Given the description of an element on the screen output the (x, y) to click on. 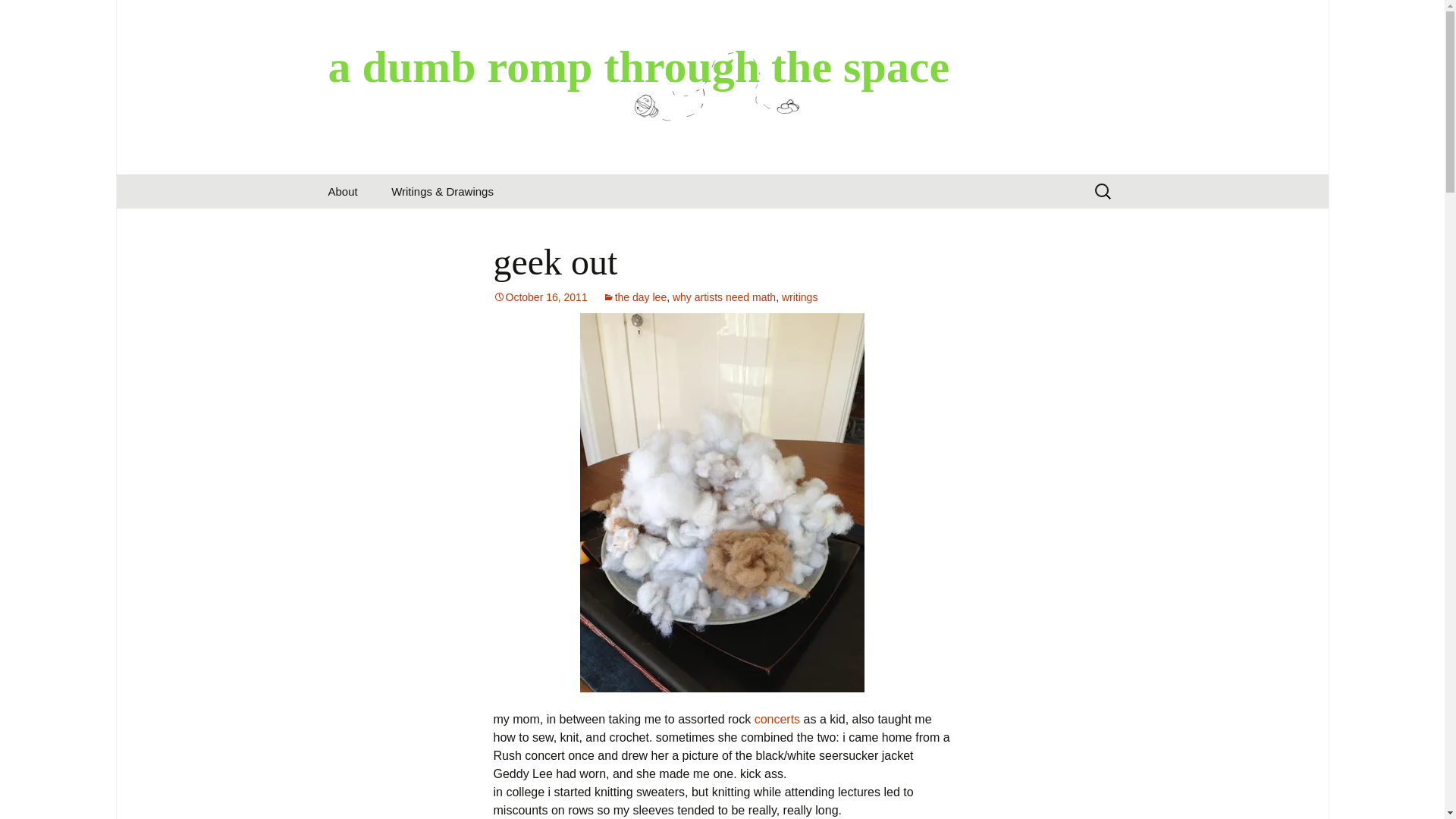
Search (18, 15)
concerts (776, 718)
About (342, 191)
Permalink to geek out (539, 297)
the day lee (634, 297)
Search (34, 15)
why artists need math (724, 297)
writings (798, 297)
October 16, 2011 (539, 297)
